Given the description of an element on the screen output the (x, y) to click on. 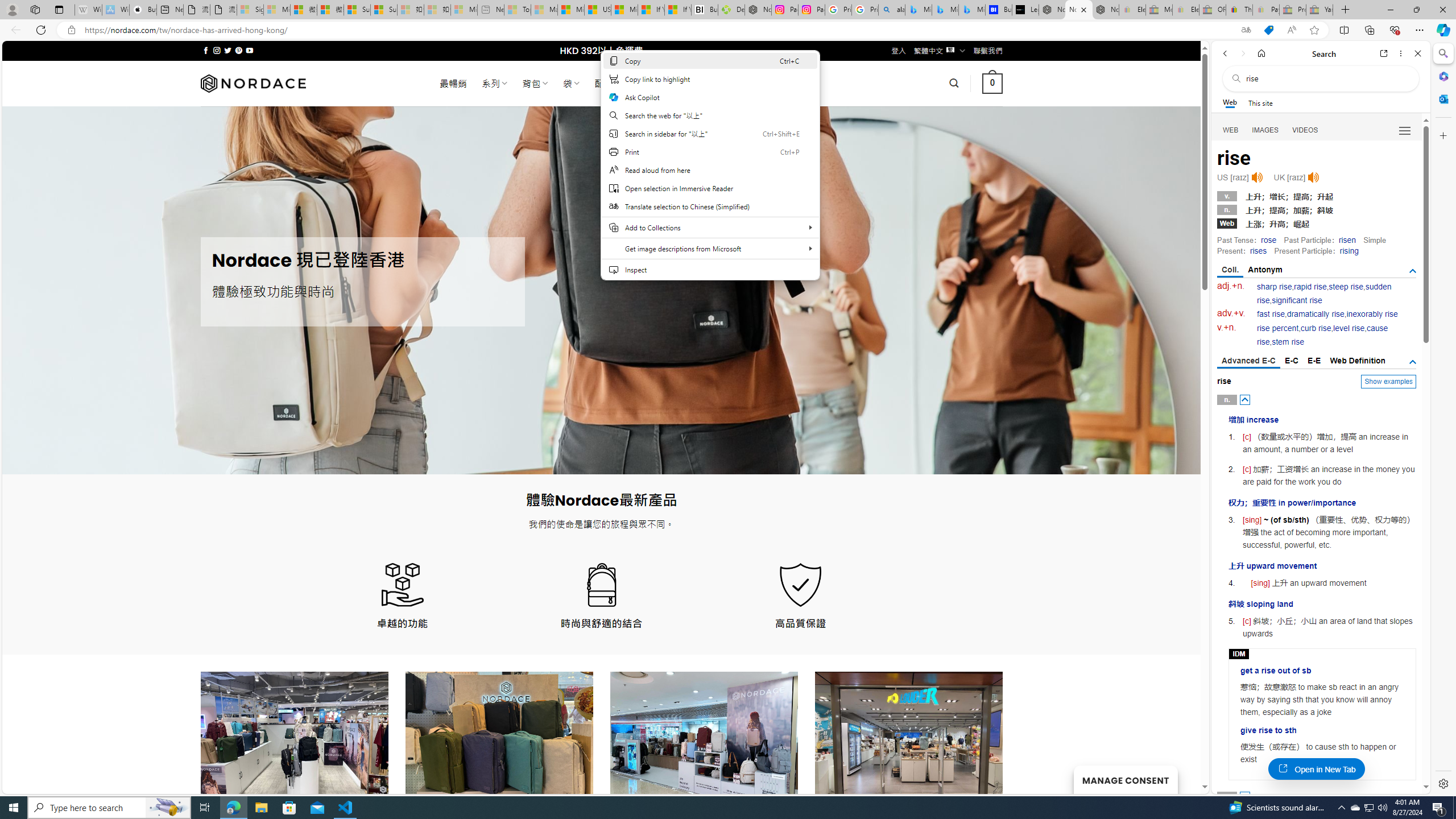
Follow on Facebook (205, 50)
Search Filter, VIDEOS (1304, 129)
Show translate options (1245, 29)
Descarga Driver Updater (731, 9)
Copy (710, 60)
Web context (710, 165)
level rise (1349, 328)
Open selection in Immersive Reader (710, 188)
AutomationID: posbtn_1 (1245, 796)
Web scope (1230, 102)
Top Stories - MSN - Sleeping (517, 9)
Inspect (710, 269)
